Given the description of an element on the screen output the (x, y) to click on. 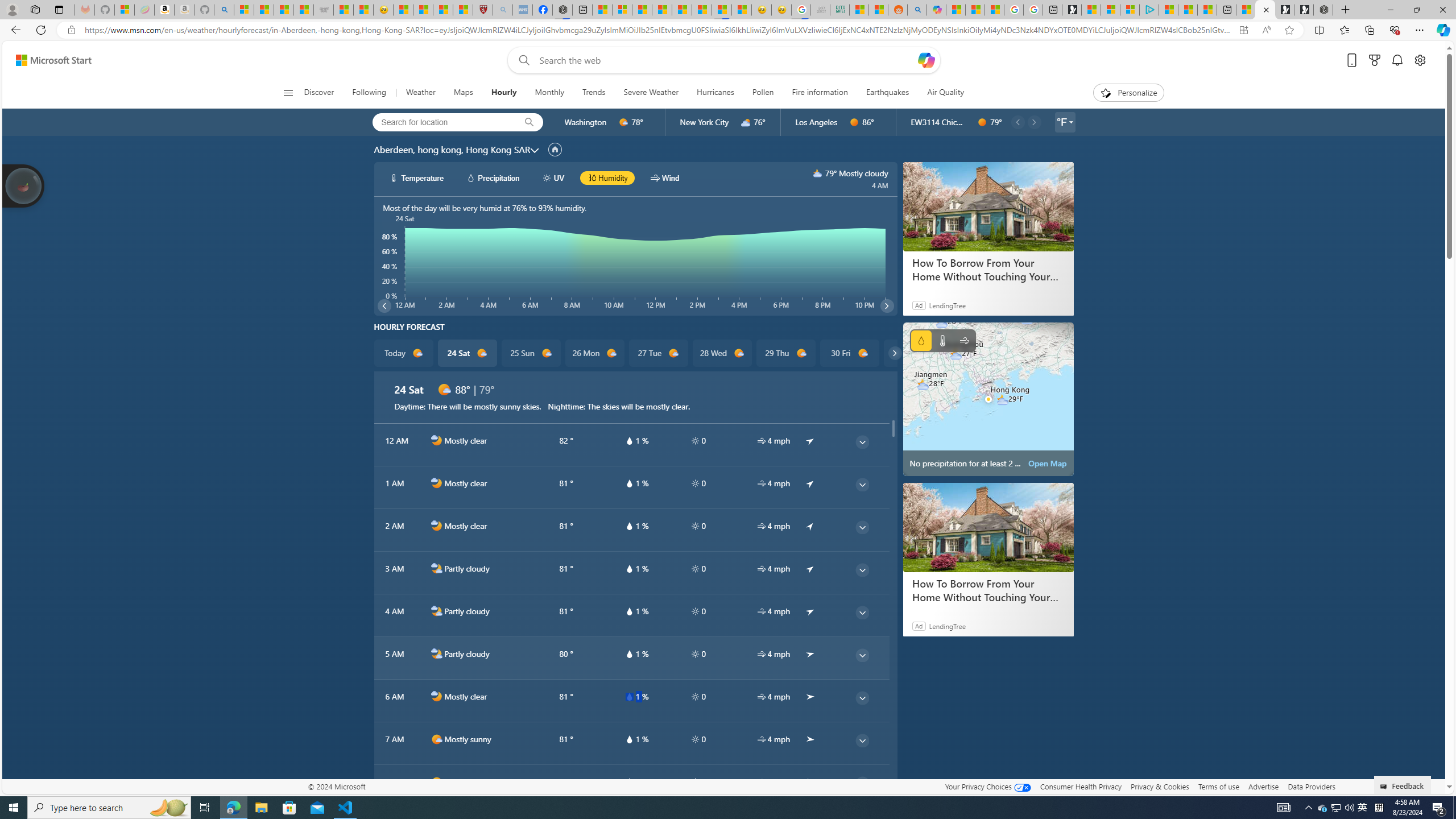
d3000 (746, 121)
29 Thu d1000 (785, 352)
25 Sun d1000 (530, 352)
n1000 (436, 696)
hourlyChart/temperatureWhite (394, 177)
24 Sat d1000 (466, 352)
Pollen (762, 92)
